Given the description of an element on the screen output the (x, y) to click on. 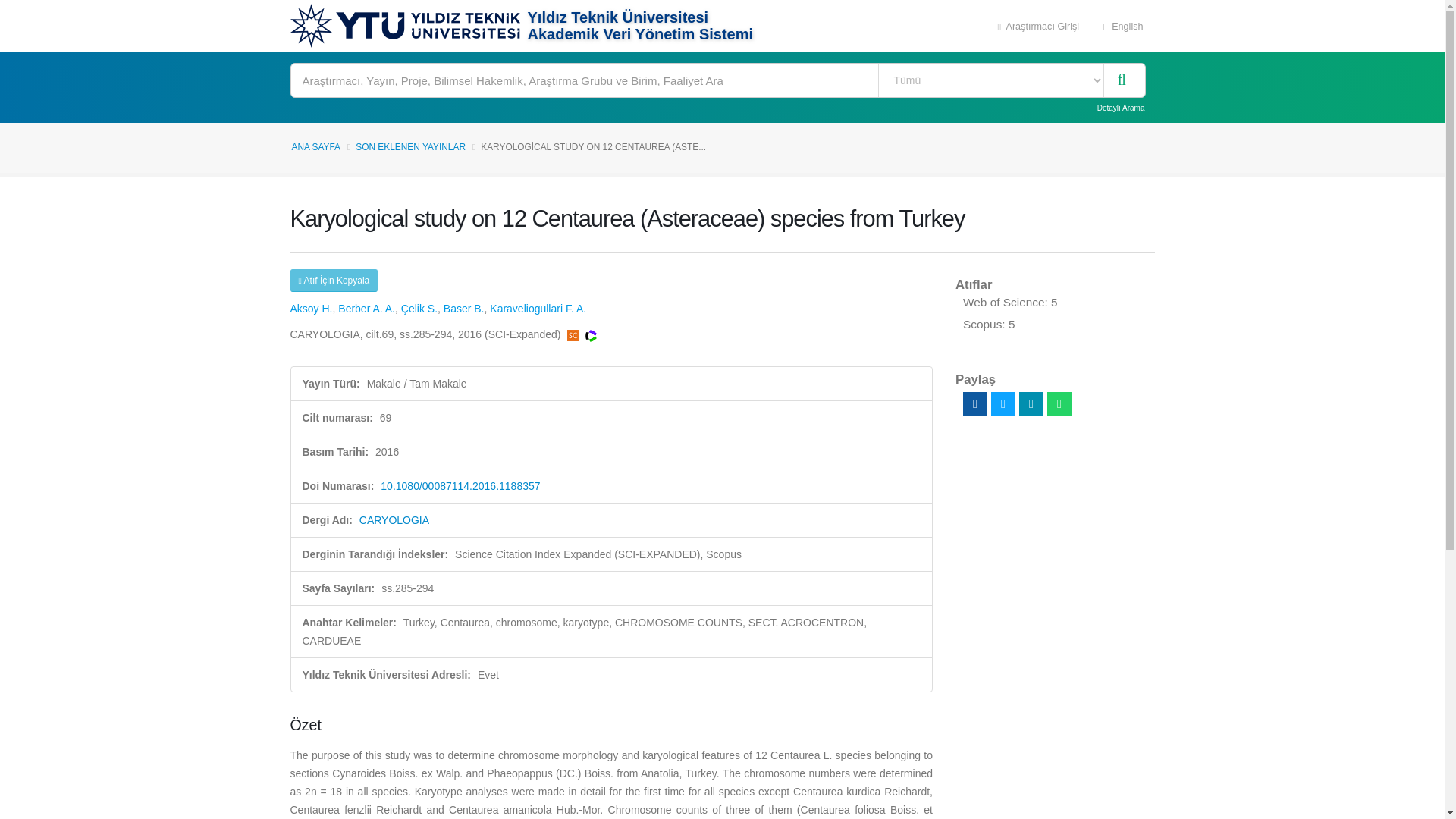
Birol Baser (464, 308)
Faik A. Karaveliogullari (537, 308)
SON EKLENEN YAYINLAR (410, 146)
Ahmet A. Berber (365, 308)
Baser B. (464, 308)
Karaveliogullari F. A. (537, 308)
English (1123, 26)
Huseyin Aksoy (310, 308)
CARYOLOGIA (394, 520)
ANA SAYFA (315, 146)
Aksoy H. (310, 308)
Berber A. A. (365, 308)
